Given the description of an element on the screen output the (x, y) to click on. 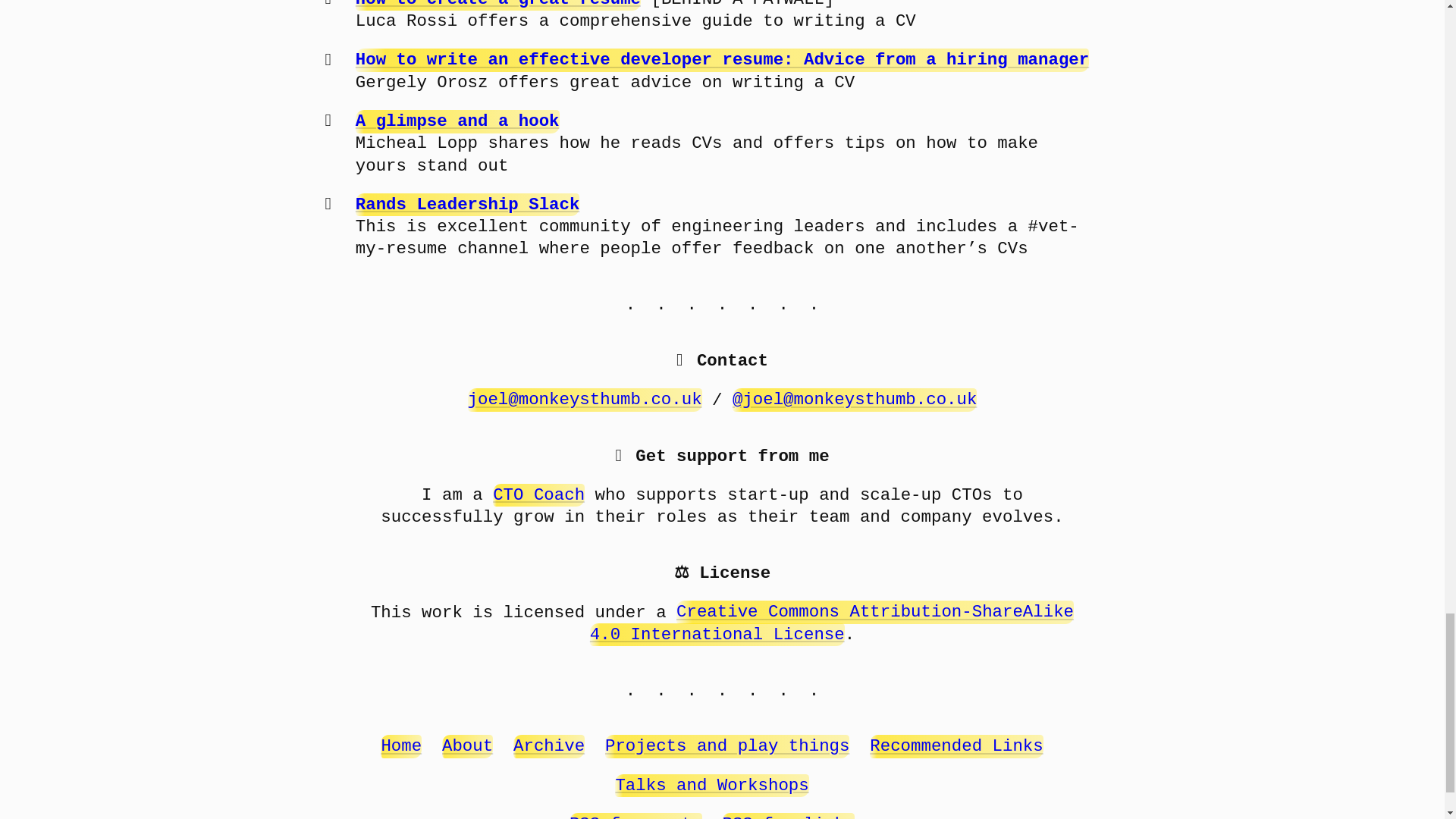
Archive (549, 745)
Talks and Workshops (711, 784)
How to create a great resume (497, 5)
Recommended Links (955, 745)
Rands Leadership Slack (467, 204)
CTO Coach (539, 495)
A glimpse and a hook (457, 120)
Projects and play things (726, 745)
